Given the description of an element on the screen output the (x, y) to click on. 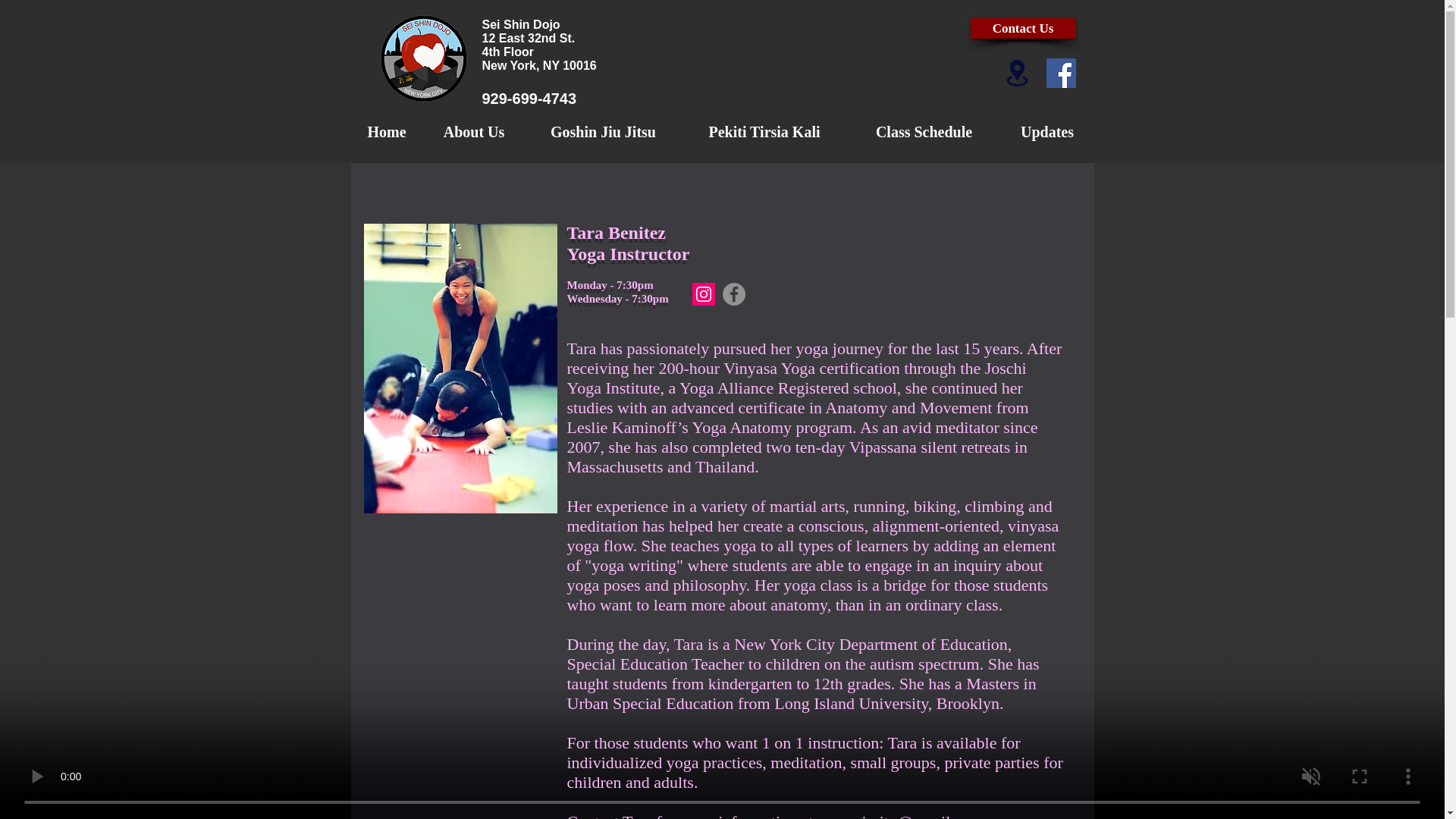
Home (386, 132)
Location (1017, 72)
Contact Us (1023, 28)
